Given the description of an element on the screen output the (x, y) to click on. 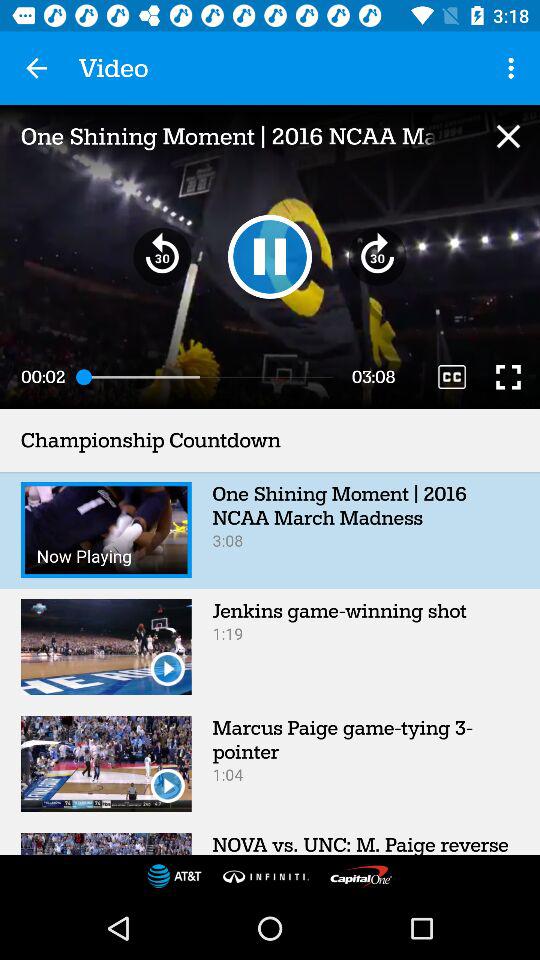
make screen wider while video is playing (508, 376)
